Given the description of an element on the screen output the (x, y) to click on. 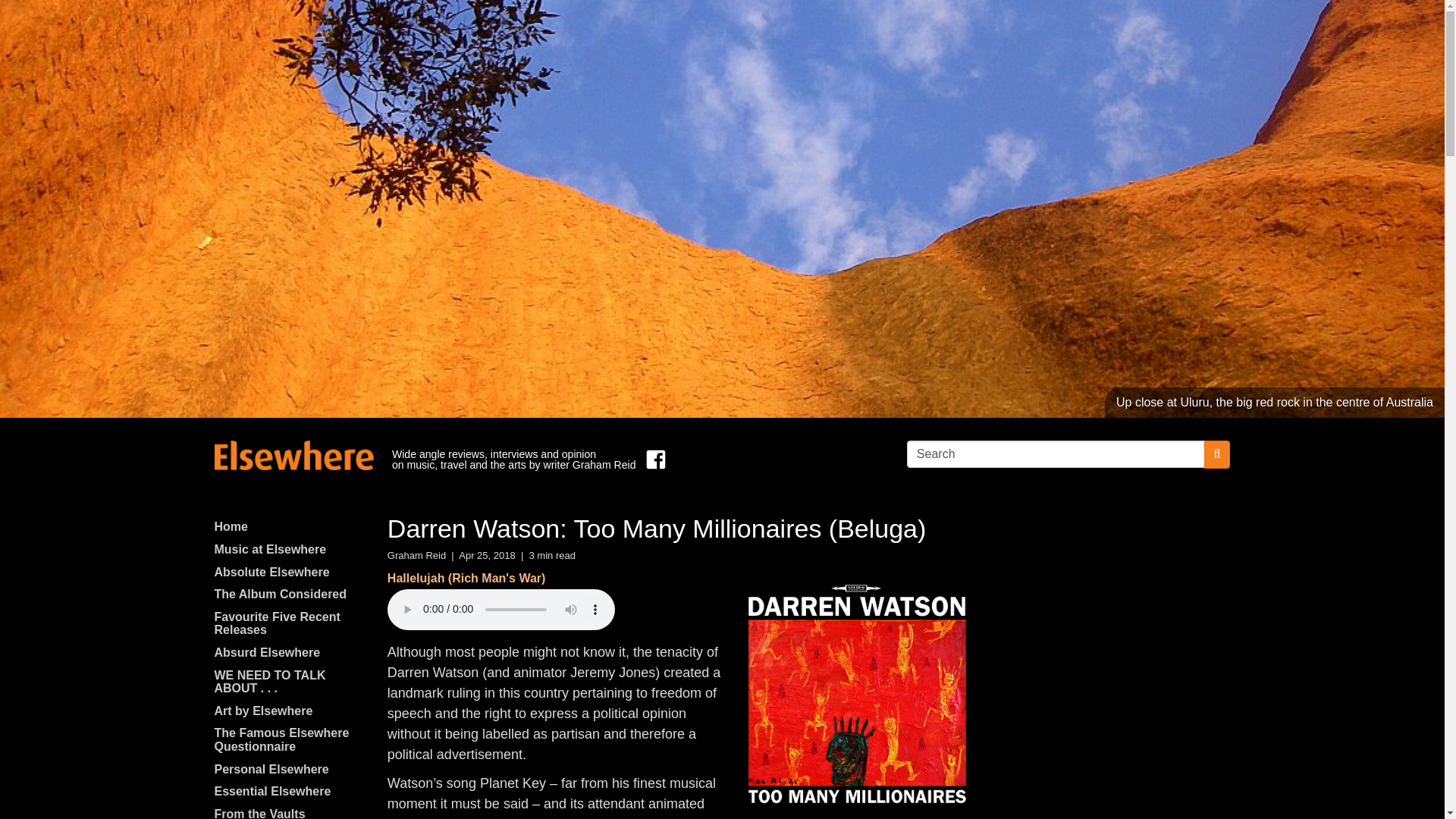
Search (1056, 453)
Elsewhere by Graham Reid (293, 455)
Search (1056, 453)
Find us on Facebook (652, 459)
